Given the description of an element on the screen output the (x, y) to click on. 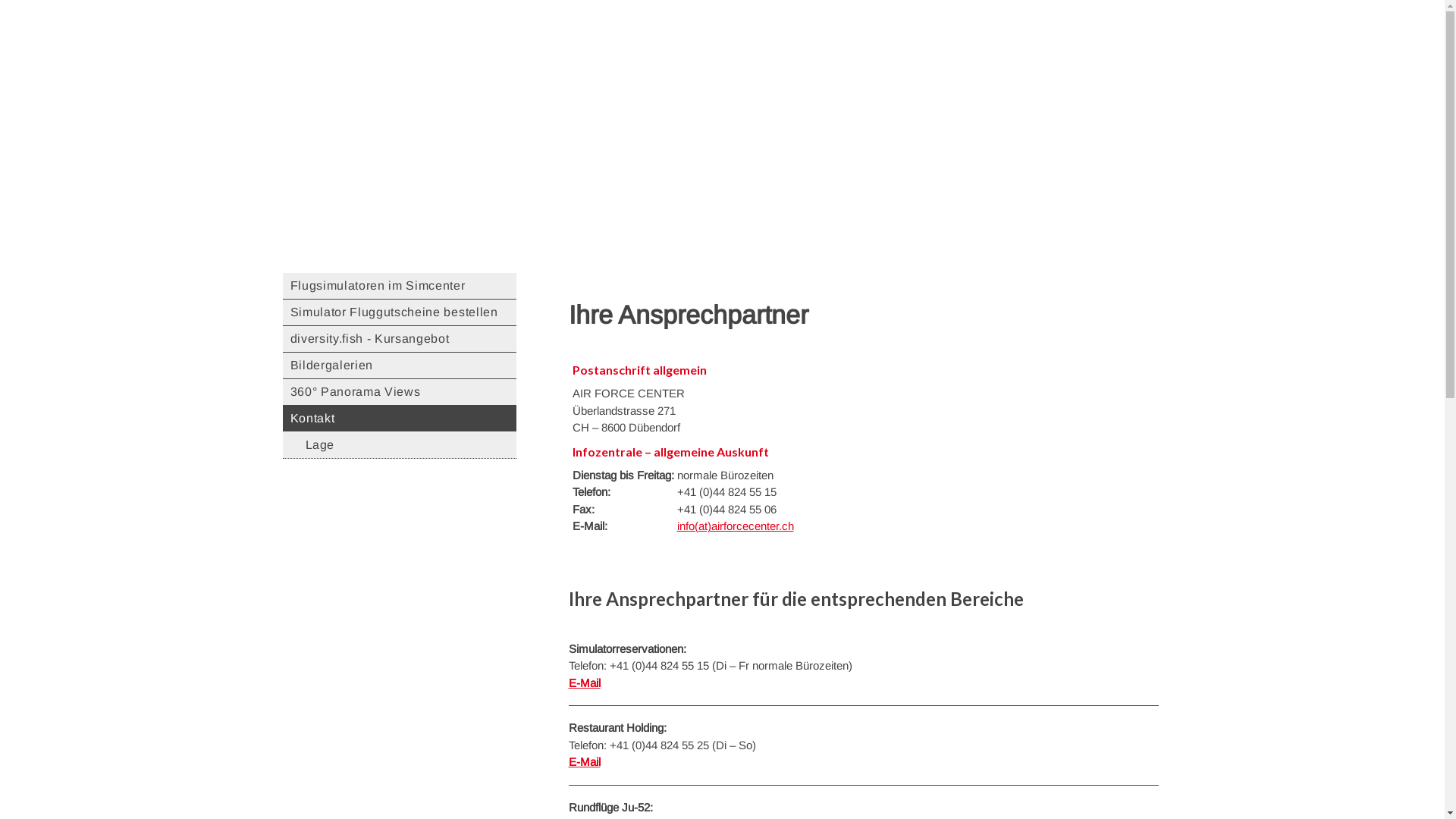
Bildergalerien Element type: text (398, 365)
Flugsimulatoren im Simcenter Element type: text (398, 286)
Kontakt Element type: text (398, 418)
E-Mail Element type: text (584, 761)
info(at)airforcecenter.ch Element type: text (734, 525)
Lage Element type: text (398, 445)
Simulator Fluggutscheine bestellen Element type: text (398, 312)
diversity.fish - Kursangebot Element type: text (398, 339)
E-Mail Element type: text (584, 682)
